Given the description of an element on the screen output the (x, y) to click on. 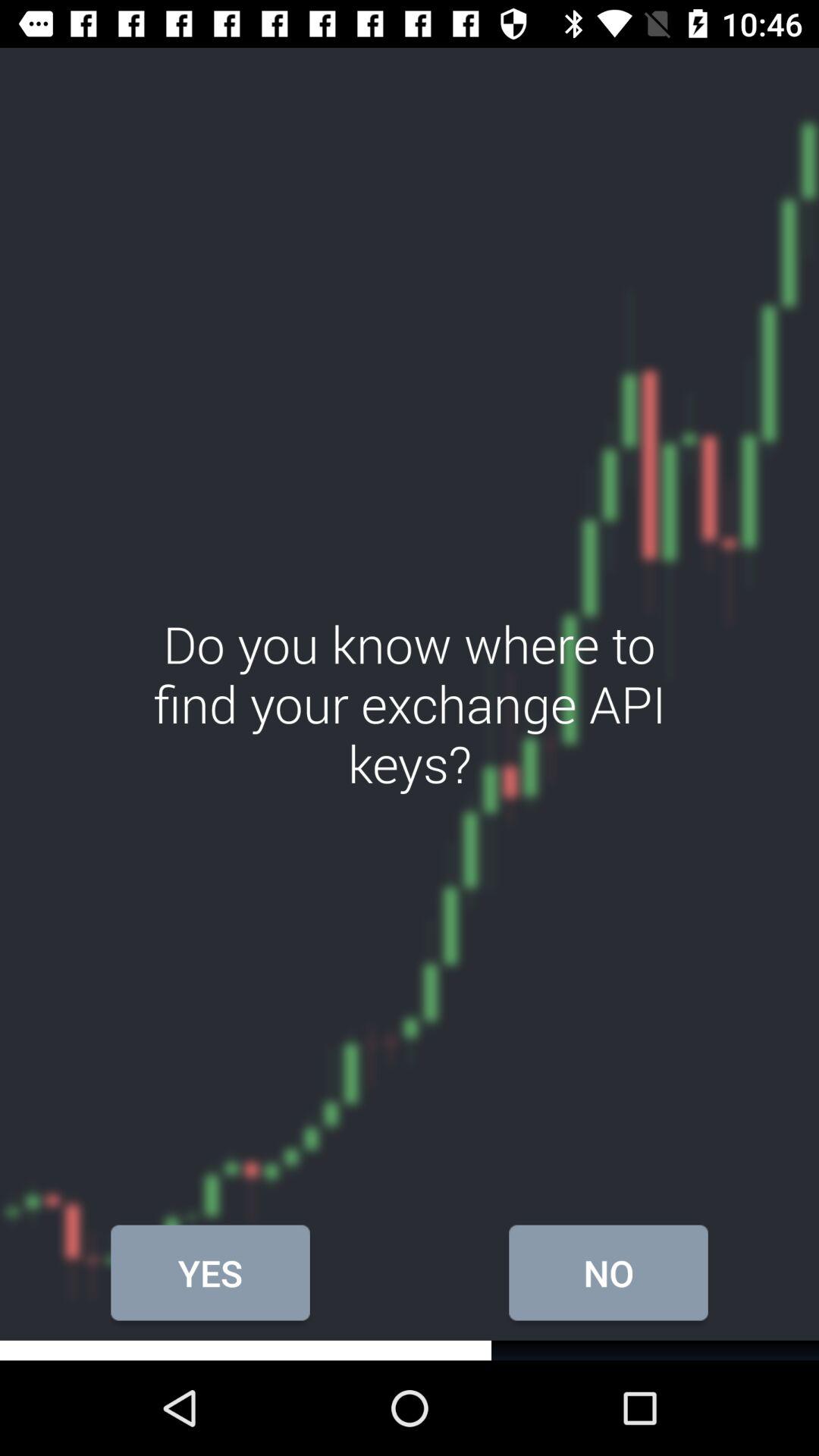
scroll until no item (608, 1272)
